Given the description of an element on the screen output the (x, y) to click on. 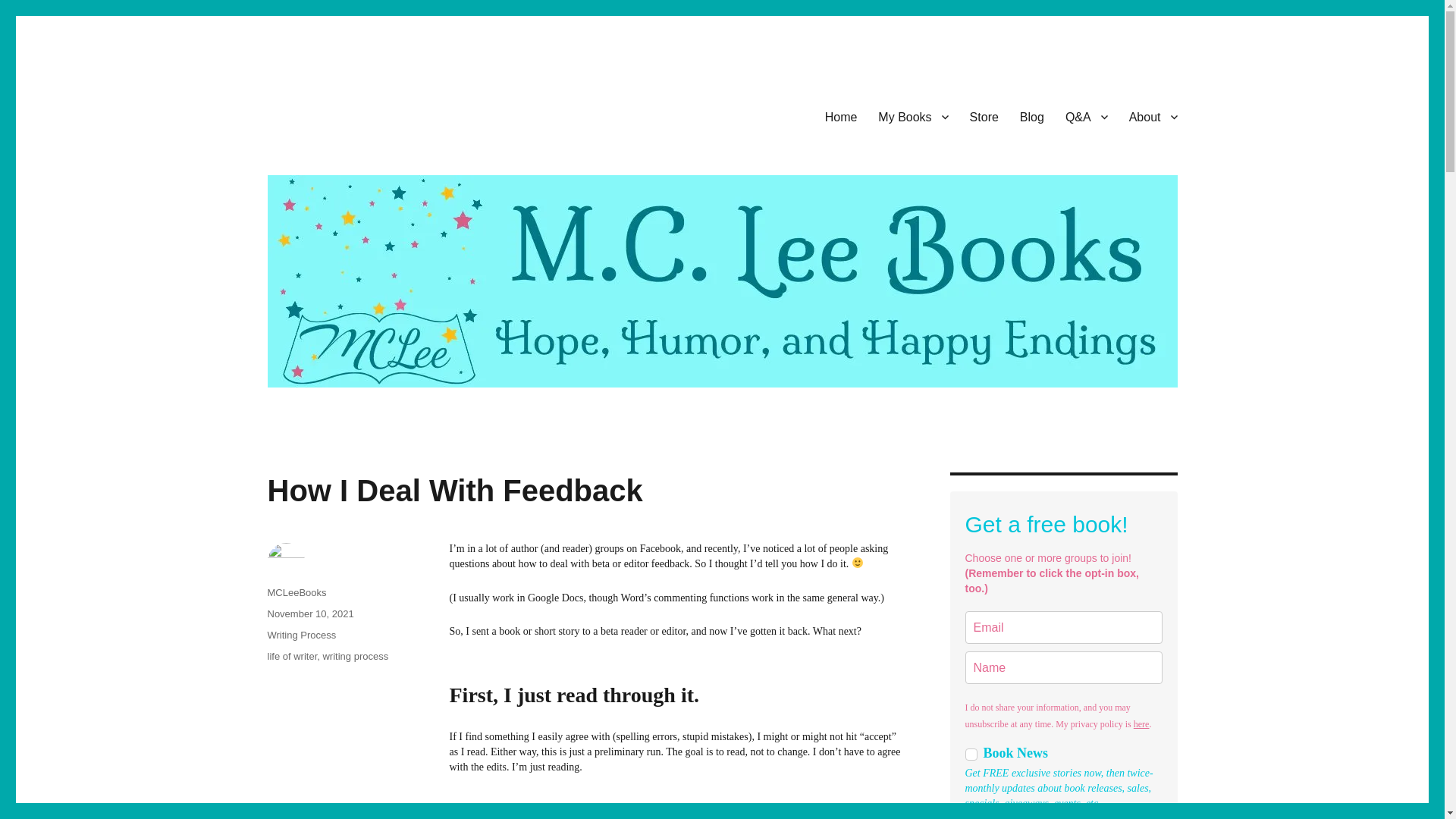
Store (984, 116)
MCLeeBooks (296, 592)
life of writer (291, 655)
Home (840, 116)
November 10, 2021 (309, 613)
writing process (354, 655)
Blog (1031, 116)
About (1153, 116)
My Books (912, 116)
M. C. Lee Books (348, 114)
Writing Process (301, 634)
